Given the description of an element on the screen output the (x, y) to click on. 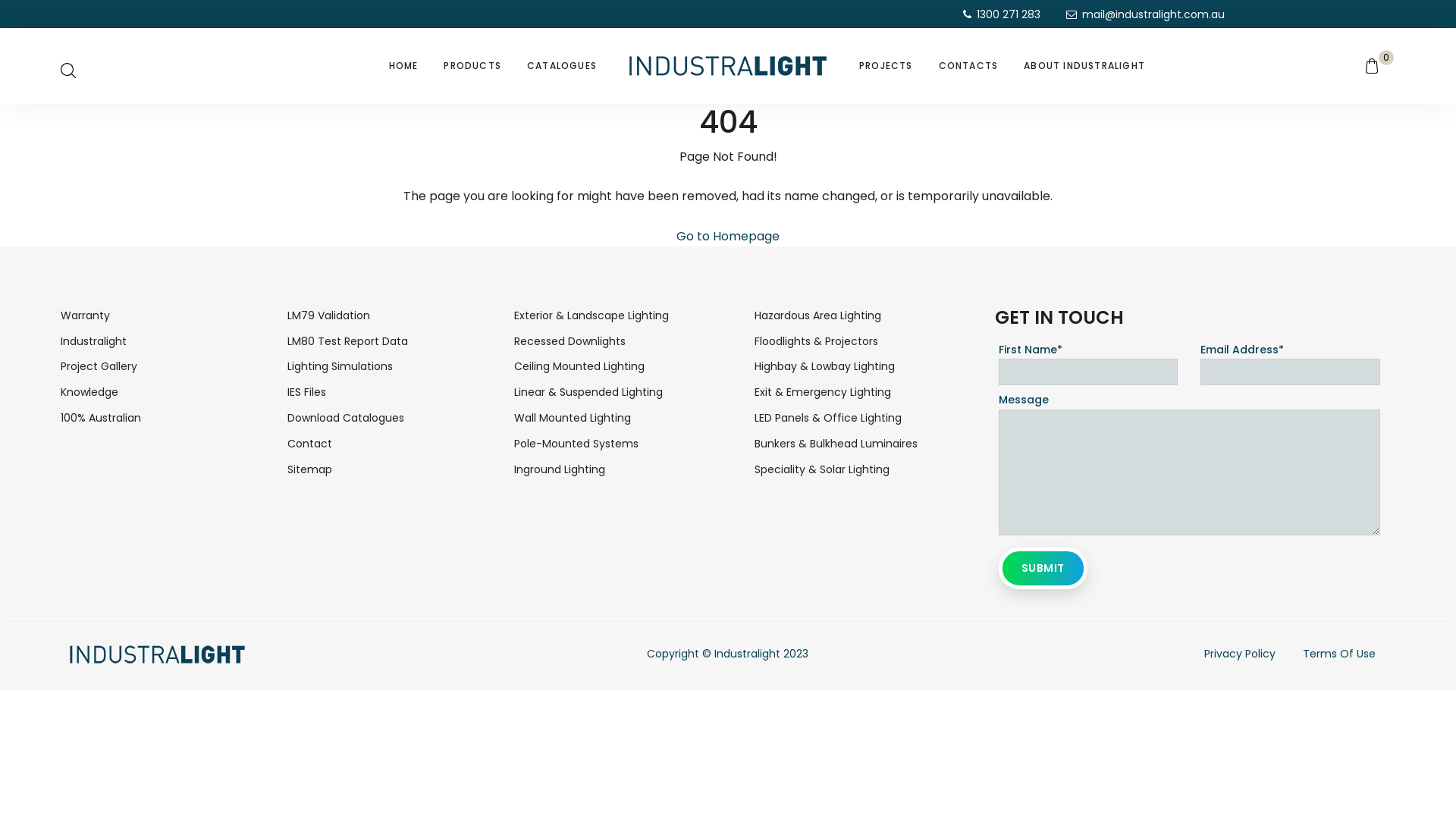
LM79 Validation Element type: text (328, 315)
Terms Of Use Element type: text (1338, 654)
Recessed Downlights Element type: text (569, 340)
mail@industralight.com.au Element type: text (1145, 13)
Project Gallery Element type: text (98, 365)
Go to Homepage Element type: text (727, 235)
1300 271 283 Element type: text (1001, 13)
Pole-Mounted Systems Element type: text (576, 443)
Ceiling Mounted Lighting Element type: text (579, 365)
Linear & Suspended Lighting Element type: text (588, 391)
CONTACTS Element type: text (968, 65)
PRODUCTS Element type: text (472, 65)
IES Files Element type: text (306, 391)
Lighting Simulations Element type: text (339, 365)
Floodlights & Projectors Element type: text (816, 340)
Highbay & Lowbay Lighting Element type: text (824, 365)
Privacy Policy Element type: text (1239, 654)
Exterior & Landscape Lighting Element type: text (591, 315)
LM80 Test Report Data Element type: text (347, 340)
Exit & Emergency Lighting Element type: text (822, 391)
Hazardous Area Lighting Element type: text (817, 315)
Submit Element type: text (1042, 568)
Wall Mounted Lighting Element type: text (572, 417)
PROJECTS Element type: text (886, 65)
Bunkers & Bulkhead Luminaires Element type: text (835, 443)
Speciality & Solar Lighting Element type: text (821, 468)
Knowledge Element type: text (89, 391)
CATALOGUES Element type: text (561, 65)
LED Panels & Office Lighting Element type: text (827, 417)
ABOUT INDUSTRALIGHT Element type: text (1084, 65)
Warranty Element type: text (84, 315)
Contact Element type: text (309, 443)
Sitemap Element type: text (309, 468)
100% Australian Element type: text (100, 417)
Download Catalogues Element type: text (345, 417)
Industralight Element type: text (93, 340)
HOME Element type: text (403, 65)
0 Element type: text (1380, 65)
Inground Lighting Element type: text (559, 468)
